Given the description of an element on the screen output the (x, y) to click on. 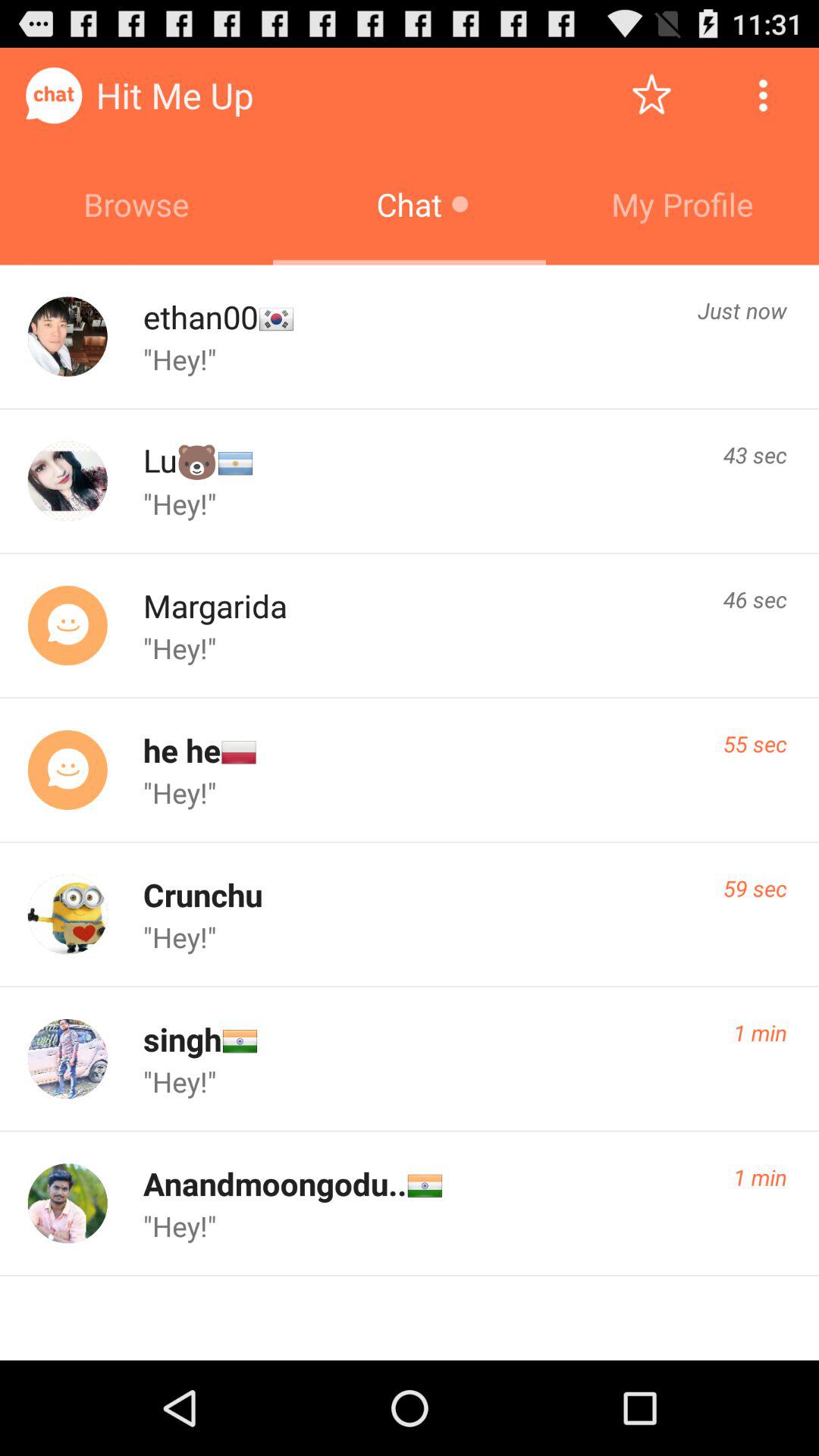
turn on the singh (182, 1038)
